Given the description of an element on the screen output the (x, y) to click on. 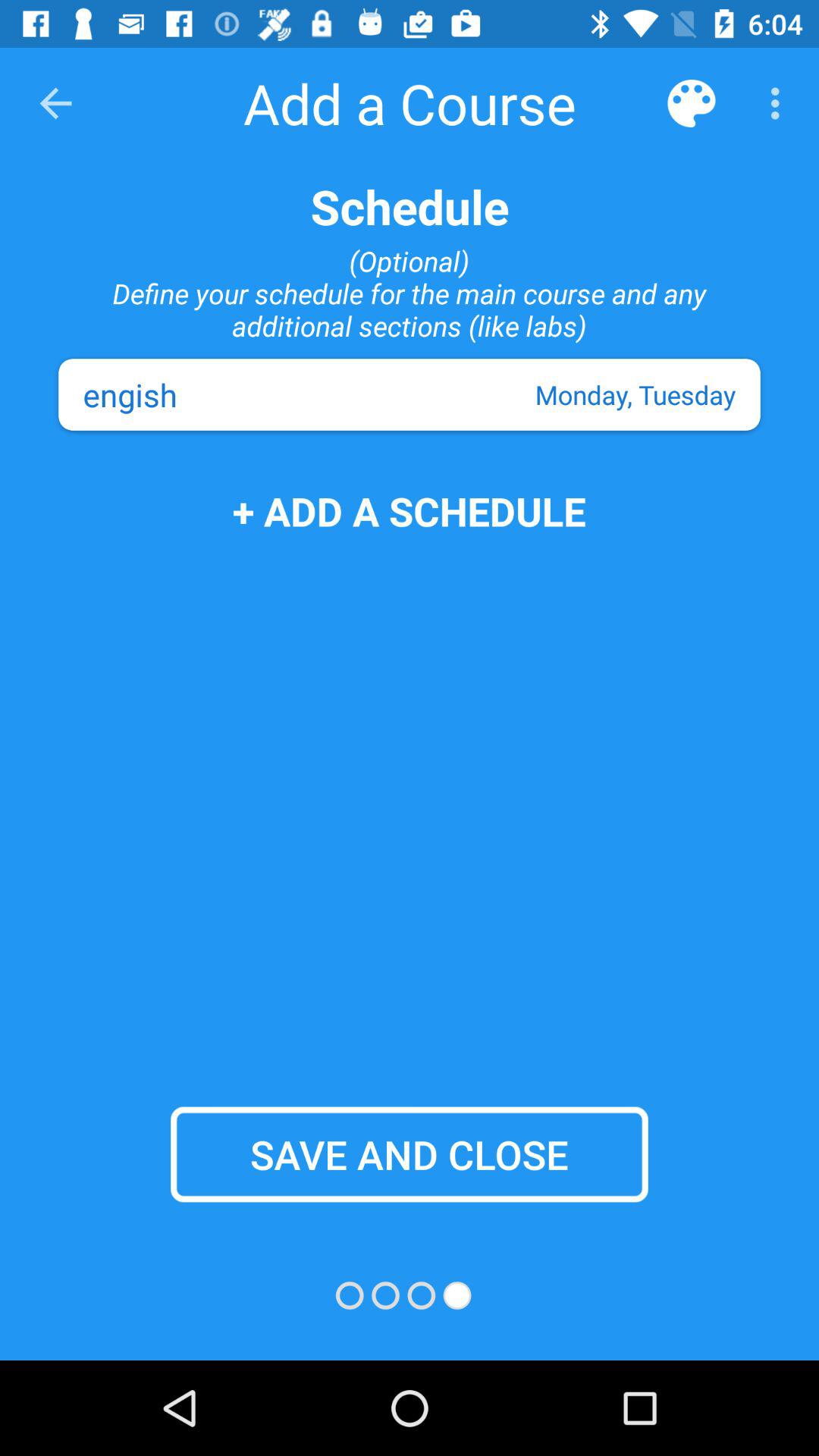
launch item above schedule item (779, 103)
